Given the description of an element on the screen output the (x, y) to click on. 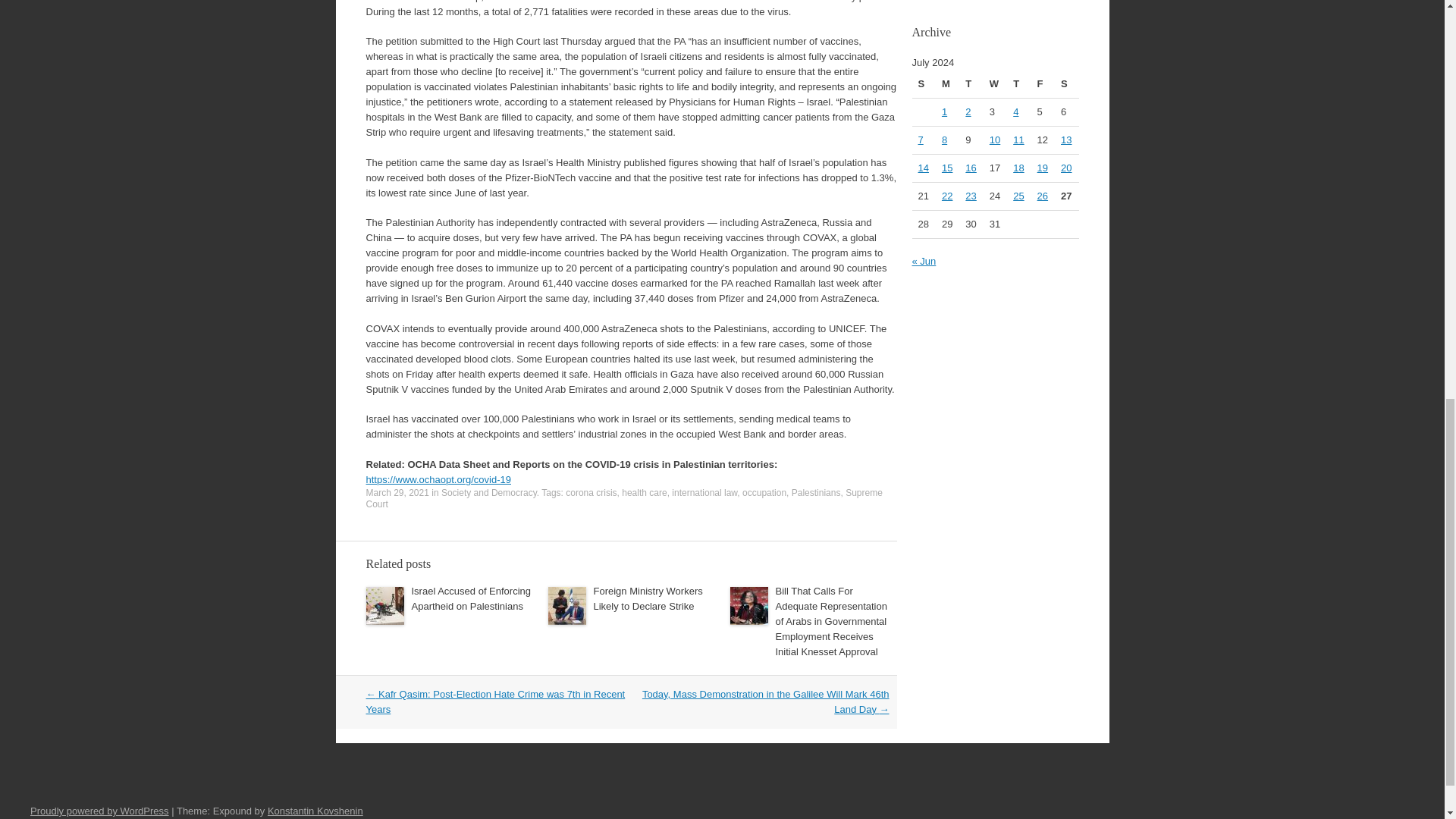
March 29, 2021 (396, 492)
Society and Democracy (489, 492)
